Given the description of an element on the screen output the (x, y) to click on. 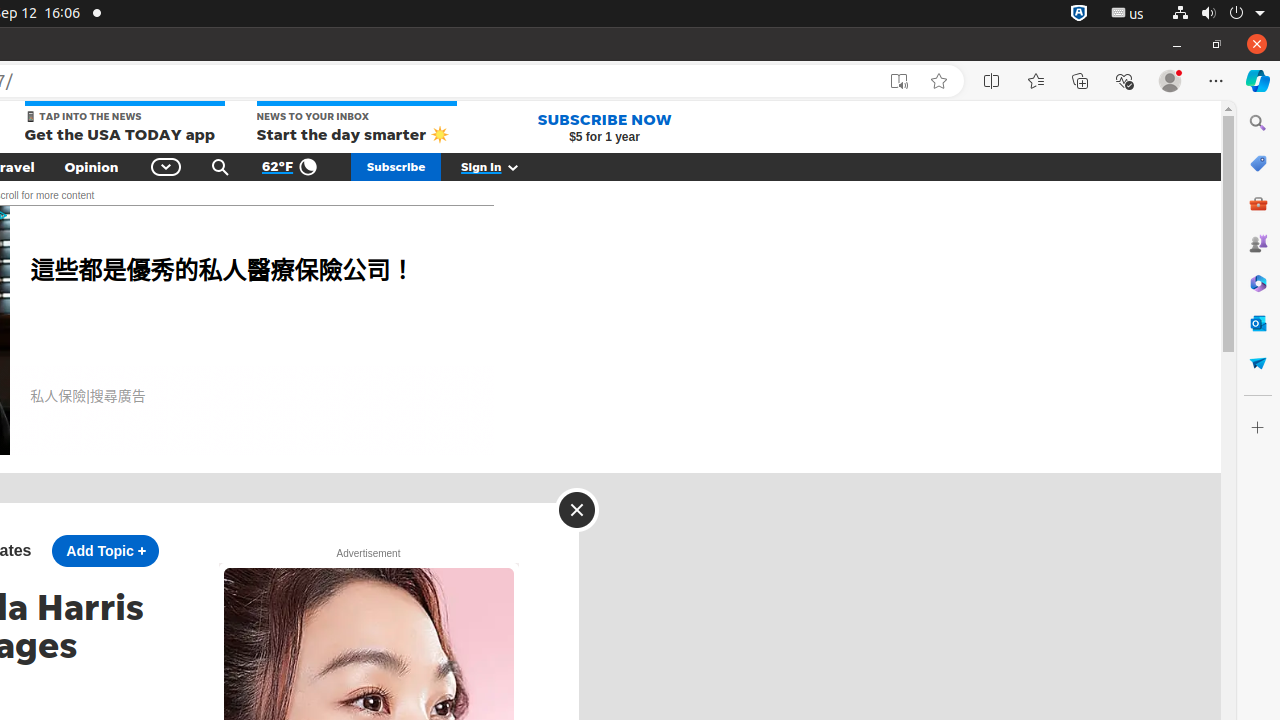
Weather: 62°F Clear Element type: link (292, 167)
Drop Element type: push-button (1258, 363)
Microsoft 365 Element type: push-button (1258, 283)
Collections Element type: push-button (1080, 81)
Global Navigation Element type: push-button (166, 167)
